Given the description of an element on the screen output the (x, y) to click on. 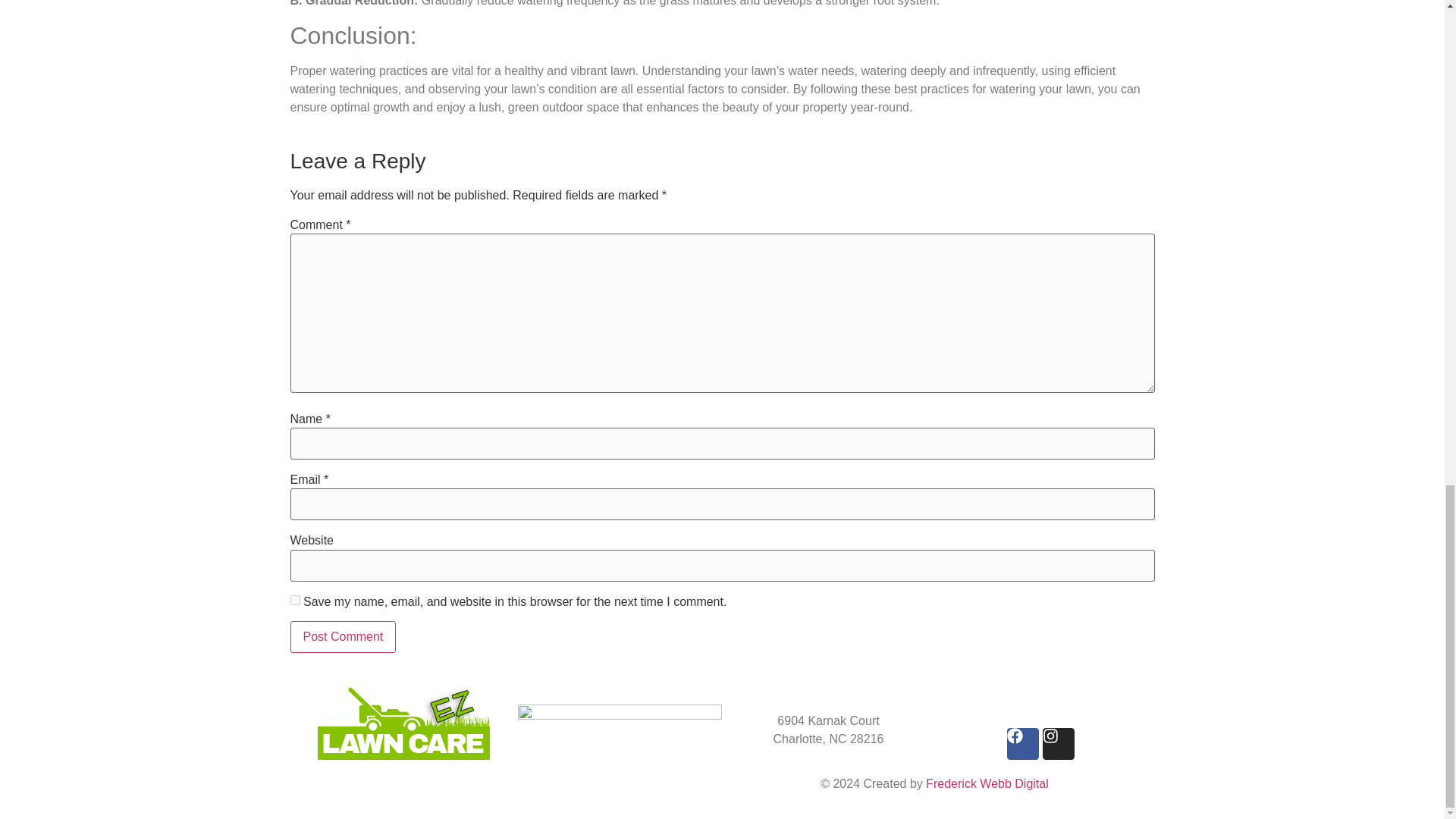
Post Comment (342, 636)
yes (294, 600)
Post Comment (342, 636)
